Given the description of an element on the screen output the (x, y) to click on. 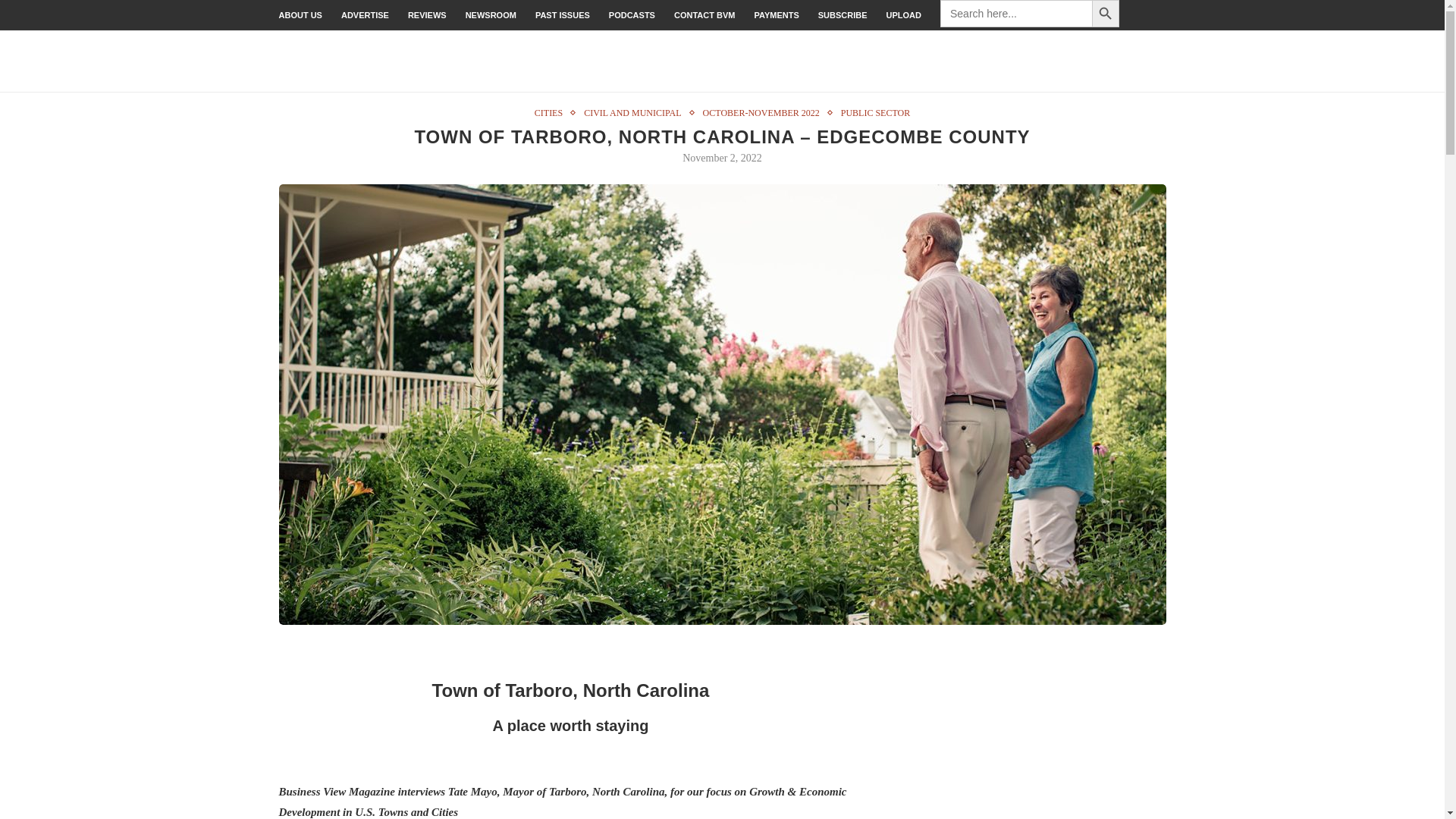
ABOUT US (300, 14)
ADVERTISE (364, 14)
Upload (903, 14)
NEWSROOM (490, 14)
View all posts in October-November 2022 (765, 112)
Contact BVM (704, 14)
Subscribe (842, 14)
OCTOBER-NOVEMBER 2022 (765, 112)
Caribbean (1144, 60)
View all posts in Civil and Municipal (635, 112)
